Given the description of an element on the screen output the (x, y) to click on. 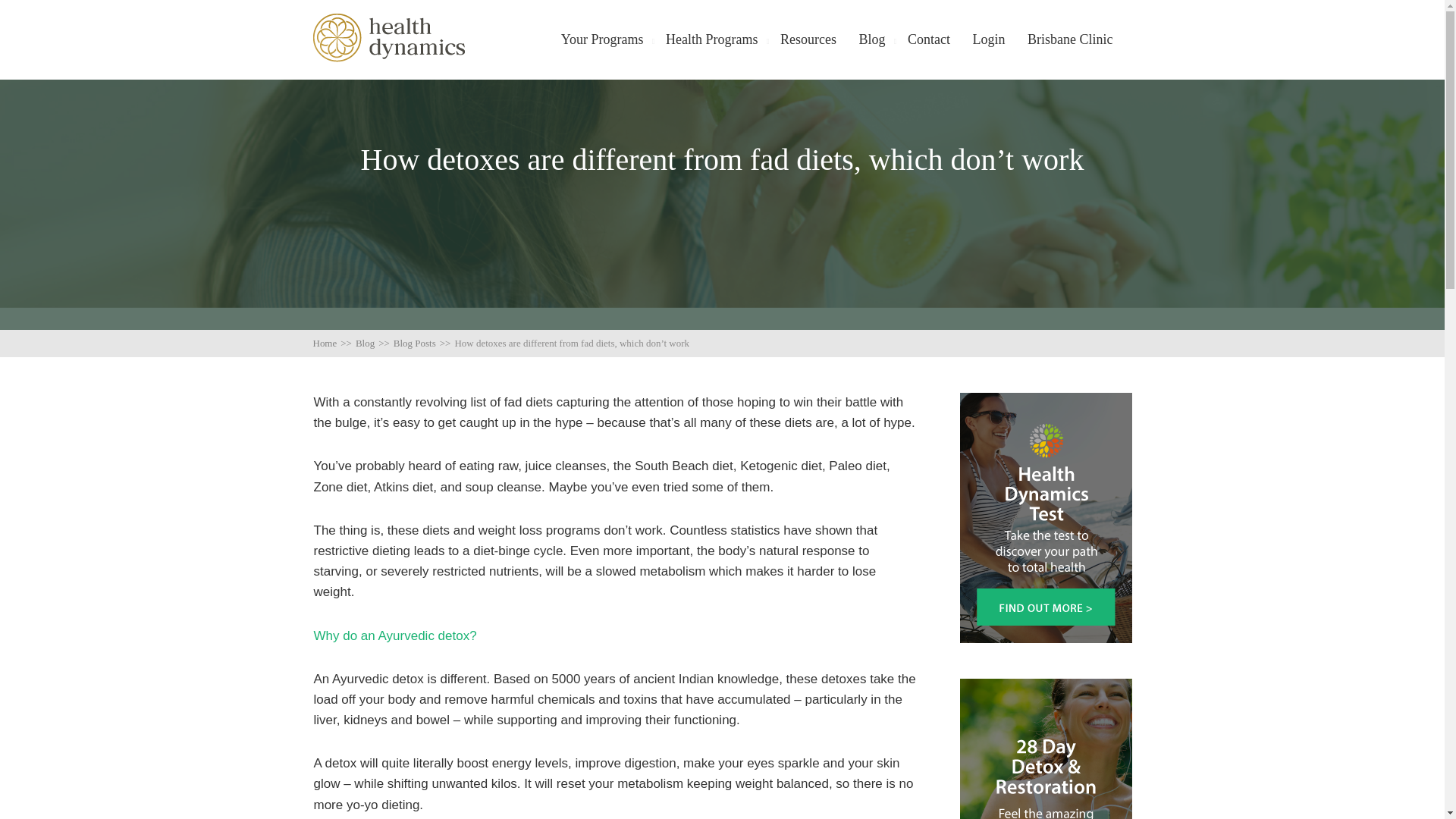
Brisbane Clinic (1069, 39)
Resources (807, 39)
Blog (872, 39)
Your Programs (601, 39)
Login (988, 39)
Contact (928, 39)
Health Programs (711, 39)
